Given the description of an element on the screen output the (x, y) to click on. 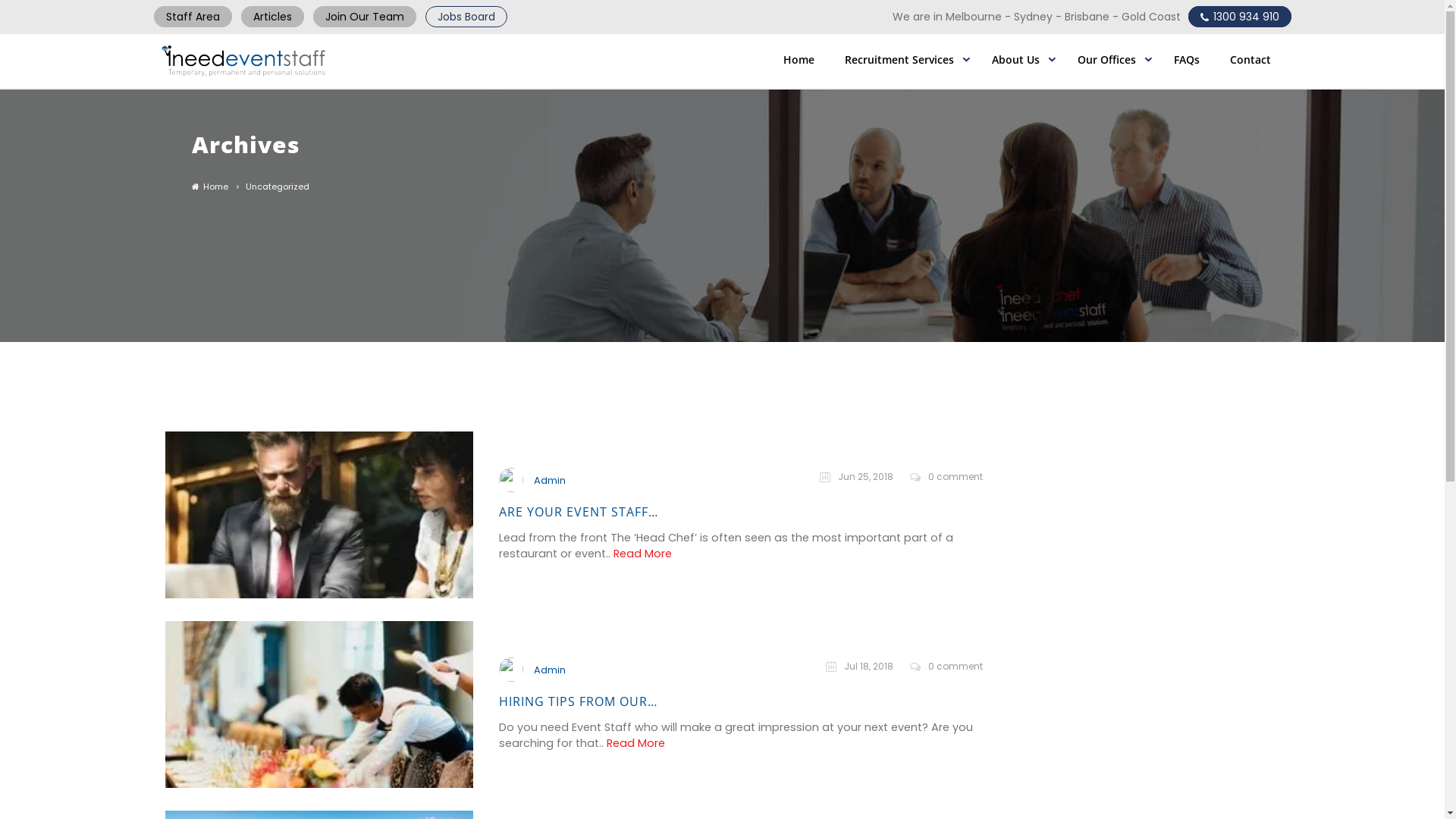
Melbourne Element type: text (972, 16)
0 comment Element type: text (946, 476)
Jobs Board Element type: text (465, 16)
Gold Coast Element type: text (1149, 16)
Jun 25, 2018 Element type: text (856, 476)
0 comment Element type: text (946, 666)
Read More Element type: text (642, 553)
Sydney Element type: text (1032, 16)
Admin Element type: text (549, 480)
Jul 18, 2018 Element type: text (859, 666)
Home Element type: text (209, 186)
FAQs Element type: text (1186, 59)
Home Element type: text (798, 59)
Our Offices Element type: text (1106, 59)
Brisbane Element type: text (1086, 16)
Admin Element type: text (549, 669)
Contact Element type: text (1250, 59)
Recruitment Services Element type: text (899, 59)
Read More Element type: text (635, 742)
1300 934 910 Element type: text (1238, 16)
Articles Element type: text (272, 16)
Staff Area Element type: text (192, 16)
Join Our Team Element type: text (363, 16)
About Us Element type: text (1015, 59)
